Given the description of an element on the screen output the (x, y) to click on. 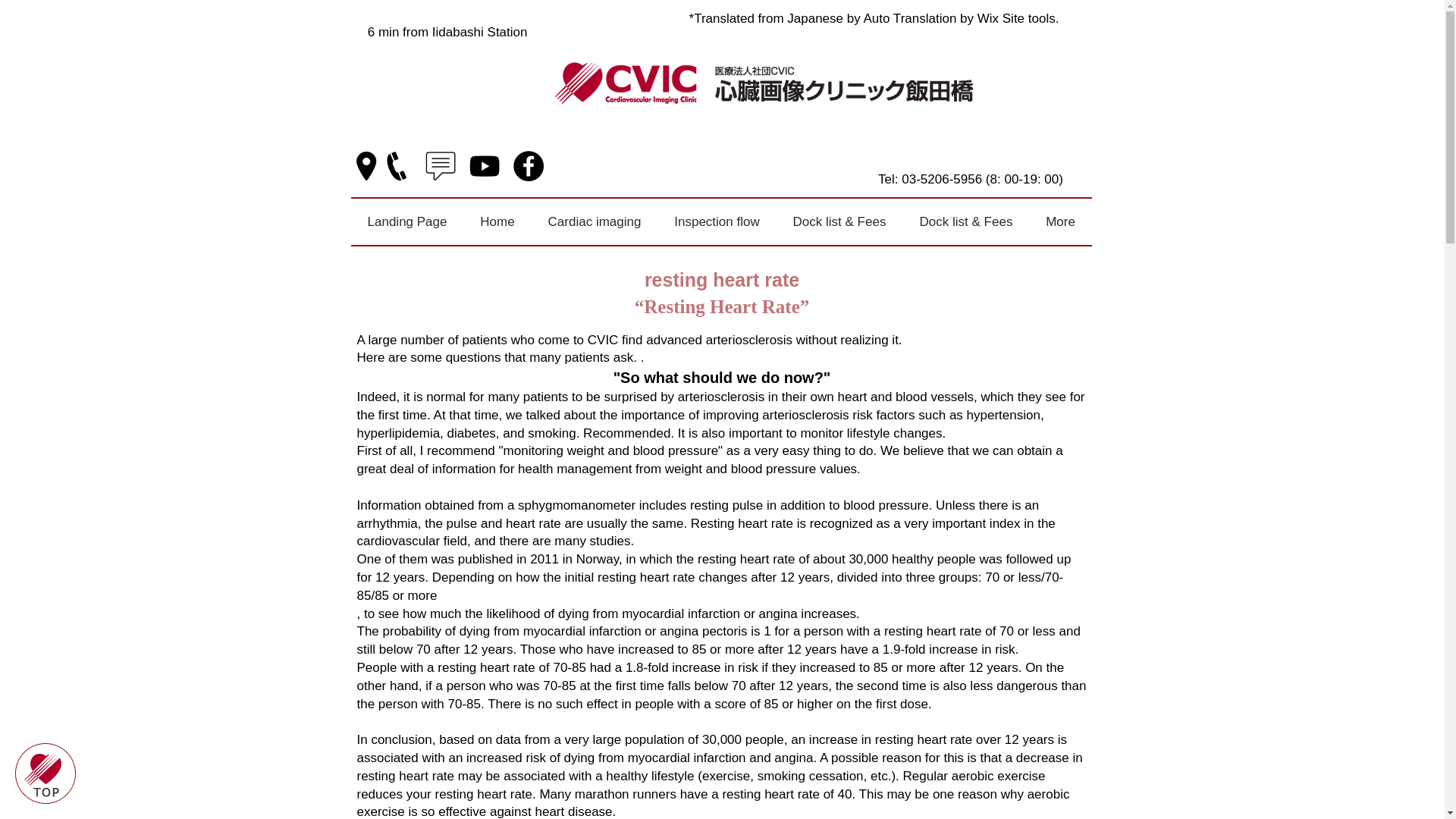
Cardiac imaging (594, 221)
6 min from Iidabashi Station  (449, 32)
03-5206-5956 (941, 178)
Landing Page (406, 221)
